Given the description of an element on the screen output the (x, y) to click on. 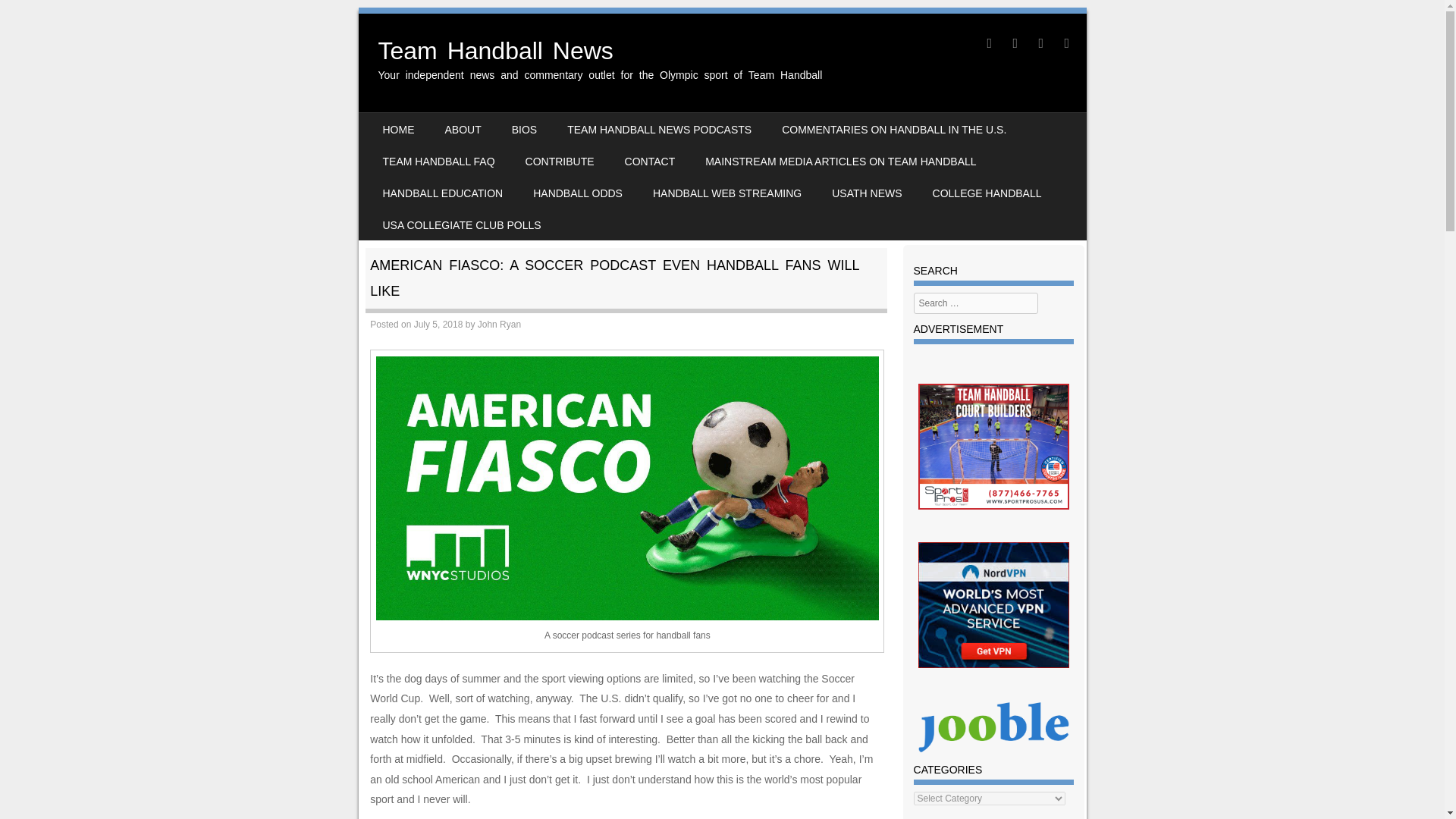
COMMENTARIES ON HANDBALL IN THE U.S. (894, 128)
MAINSTREAM MEDIA ARTICLES ON TEAM HANDBALL (840, 160)
manager (993, 727)
TEAM HANDBALL NEWS PODCASTS (659, 128)
HANDBALL EDUCATION (442, 192)
USA COLLEGIATE CLUB POLLS (461, 224)
CONTRIBUTE (560, 160)
TEAM HANDBALL FAQ (437, 160)
HOME (397, 128)
July 5, 2018 (438, 324)
USATH NEWS (866, 192)
HANDBALL WEB STREAMING (726, 192)
SKIP TO CONTENT (405, 122)
Team Handball News (494, 50)
John Ryan (499, 324)
